Given the description of an element on the screen output the (x, y) to click on. 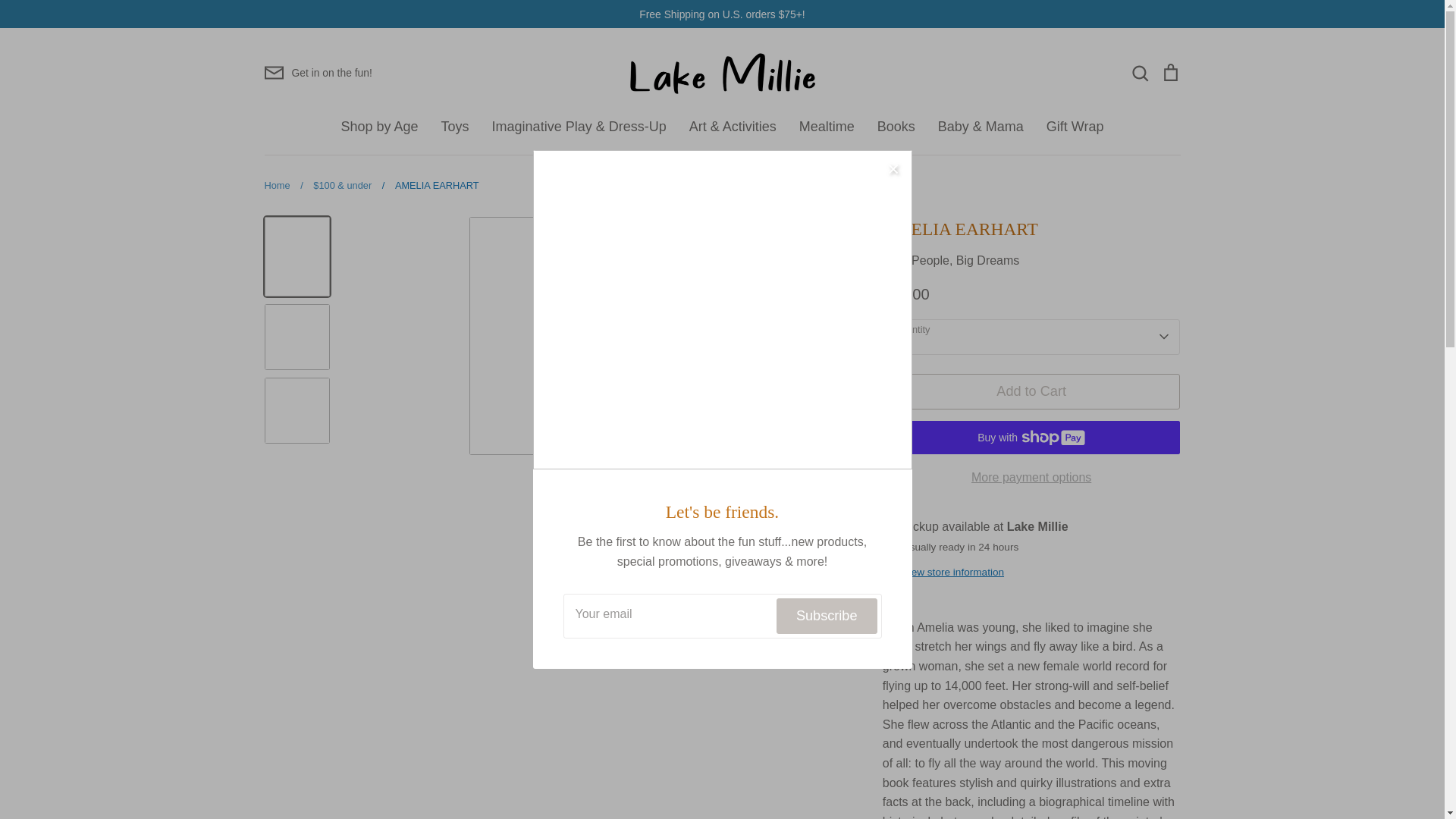
Get in on the fun! (317, 72)
Search (1139, 72)
Toys (454, 126)
Shop by Age (378, 126)
Cart (1169, 72)
